Given the description of an element on the screen output the (x, y) to click on. 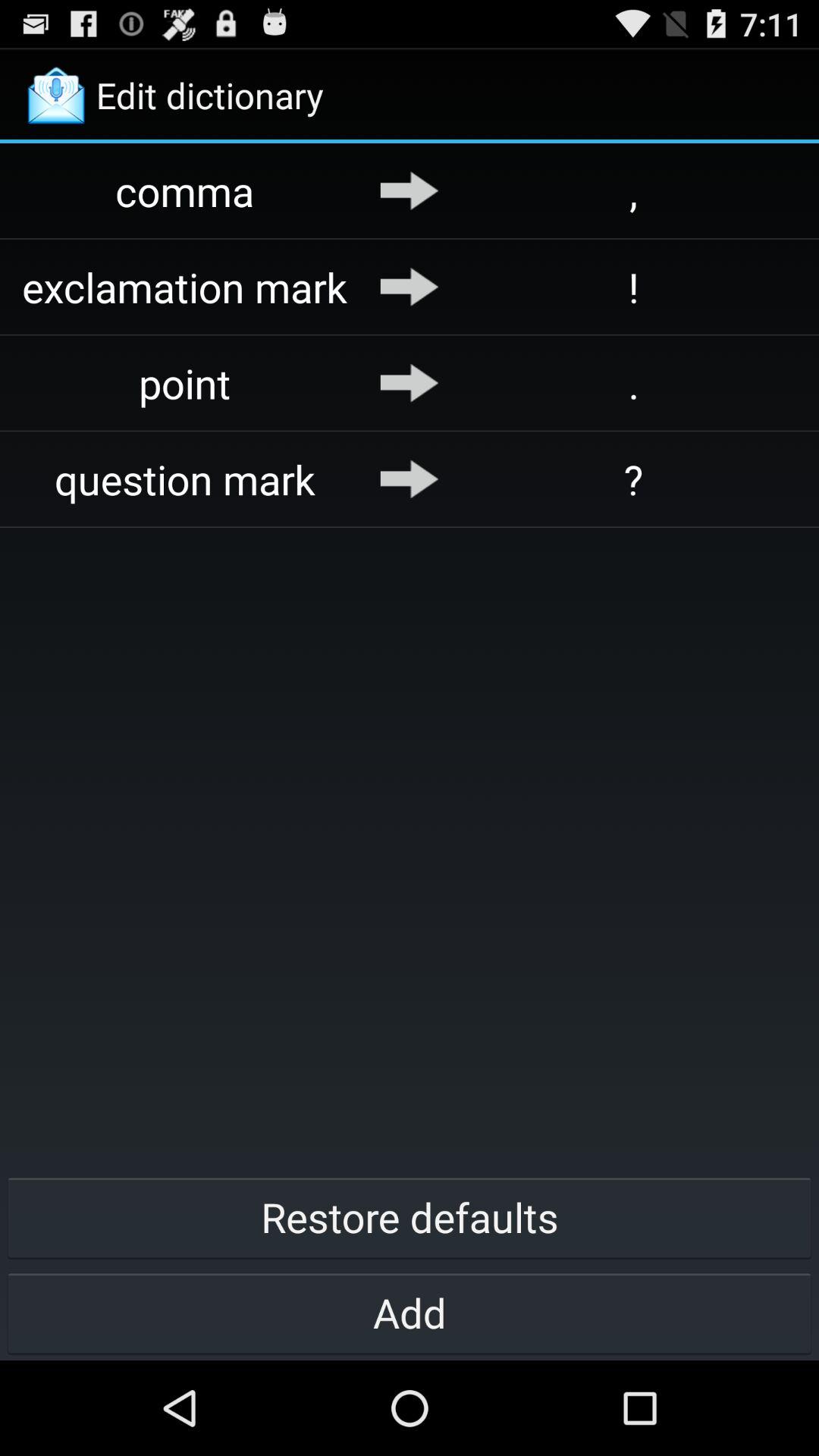
click the item next to the comma (409, 190)
